Given the description of an element on the screen output the (x, y) to click on. 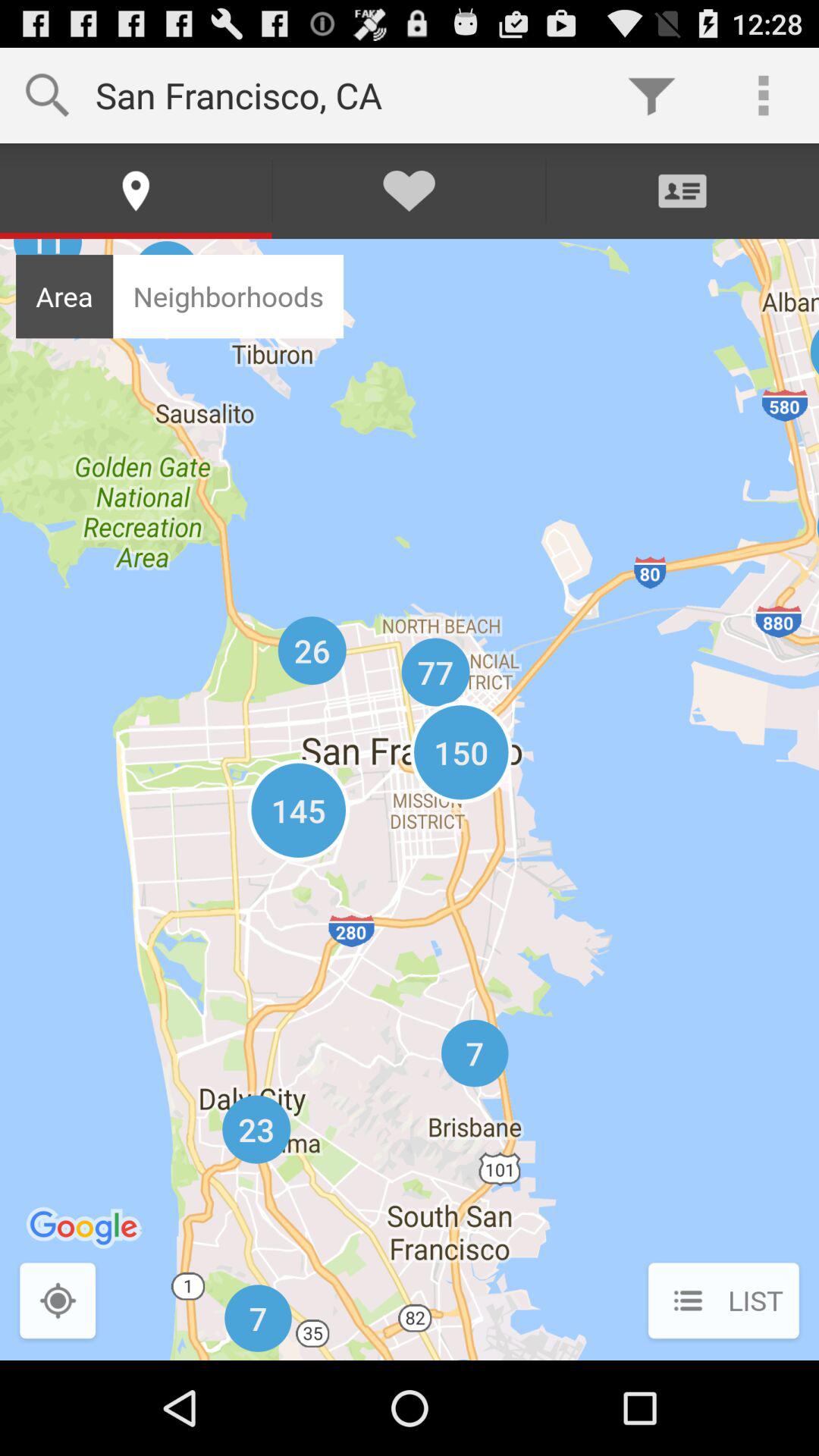
jump to the neighborhoods icon (228, 296)
